Given the description of an element on the screen output the (x, y) to click on. 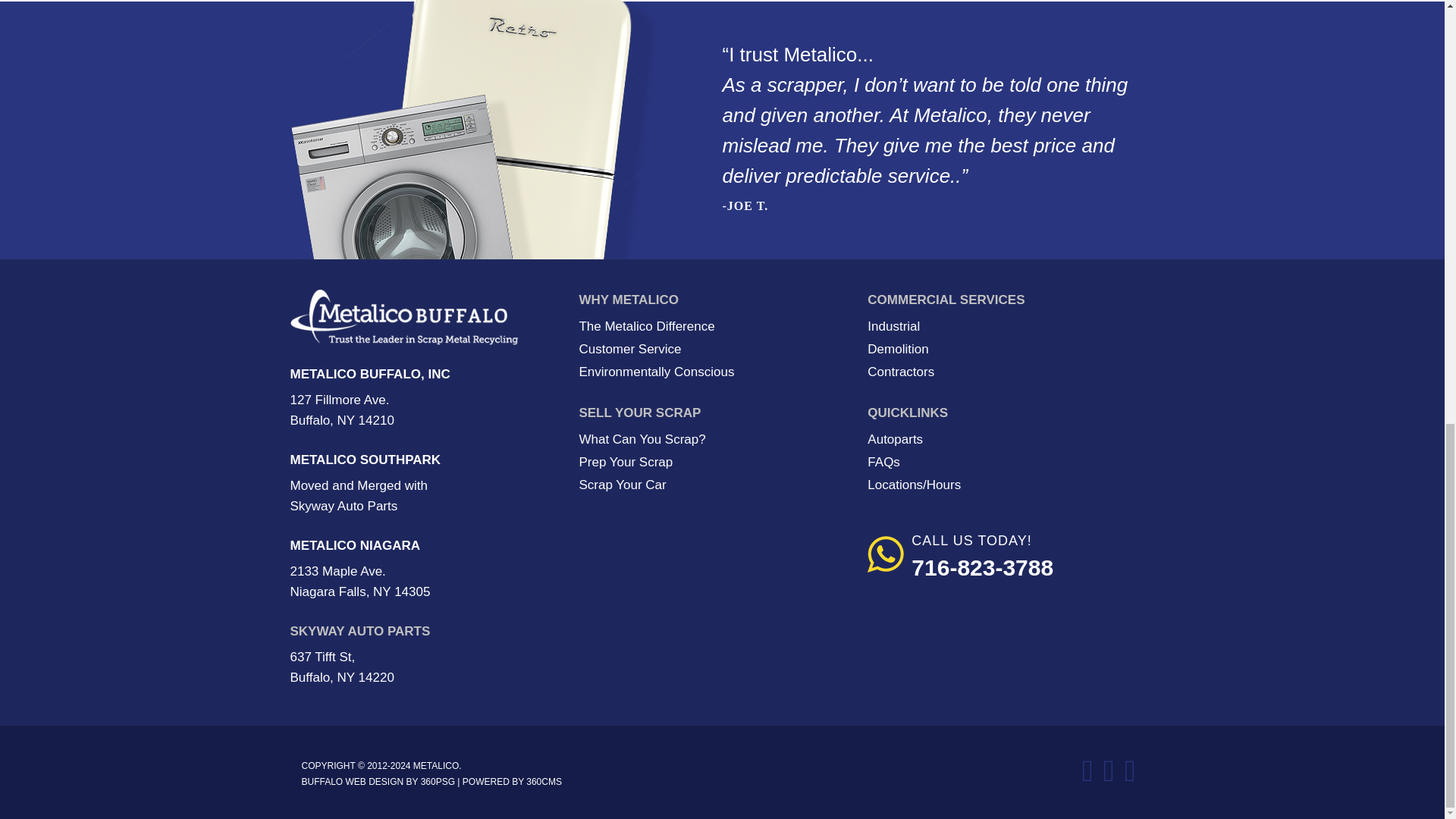
FAQs (883, 462)
Scrap Your Car (621, 484)
Customer Service (629, 349)
Demolition (897, 349)
METALICO SOUTHPARK (365, 459)
Contractors (900, 371)
METALICO NIAGARA (354, 545)
What Can You Scrap? (641, 439)
Prep Your Scrap (625, 462)
Industrial (893, 326)
METALICO BUFFALO, INC (369, 373)
Environmentally Conscious (655, 371)
Autoparts (895, 439)
The Metalico Difference (646, 326)
